Given the description of an element on the screen output the (x, y) to click on. 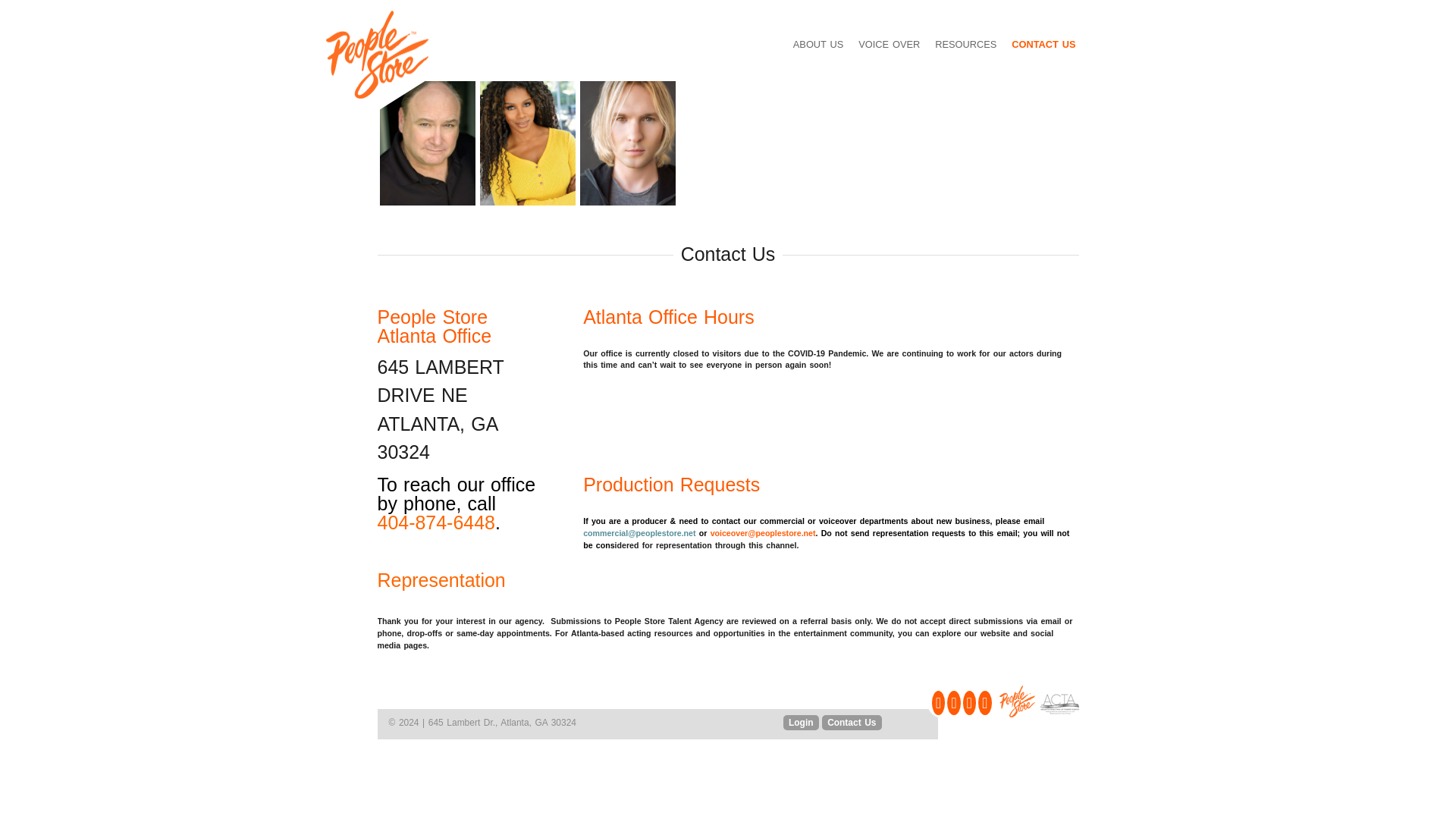
People Store (1016, 701)
RESOURCES (964, 43)
Contact Us (851, 722)
Login (800, 722)
VOICE OVER (889, 43)
CONTACT US (1043, 43)
ABOUT US (818, 43)
People Store (377, 54)
